Given the description of an element on the screen output the (x, y) to click on. 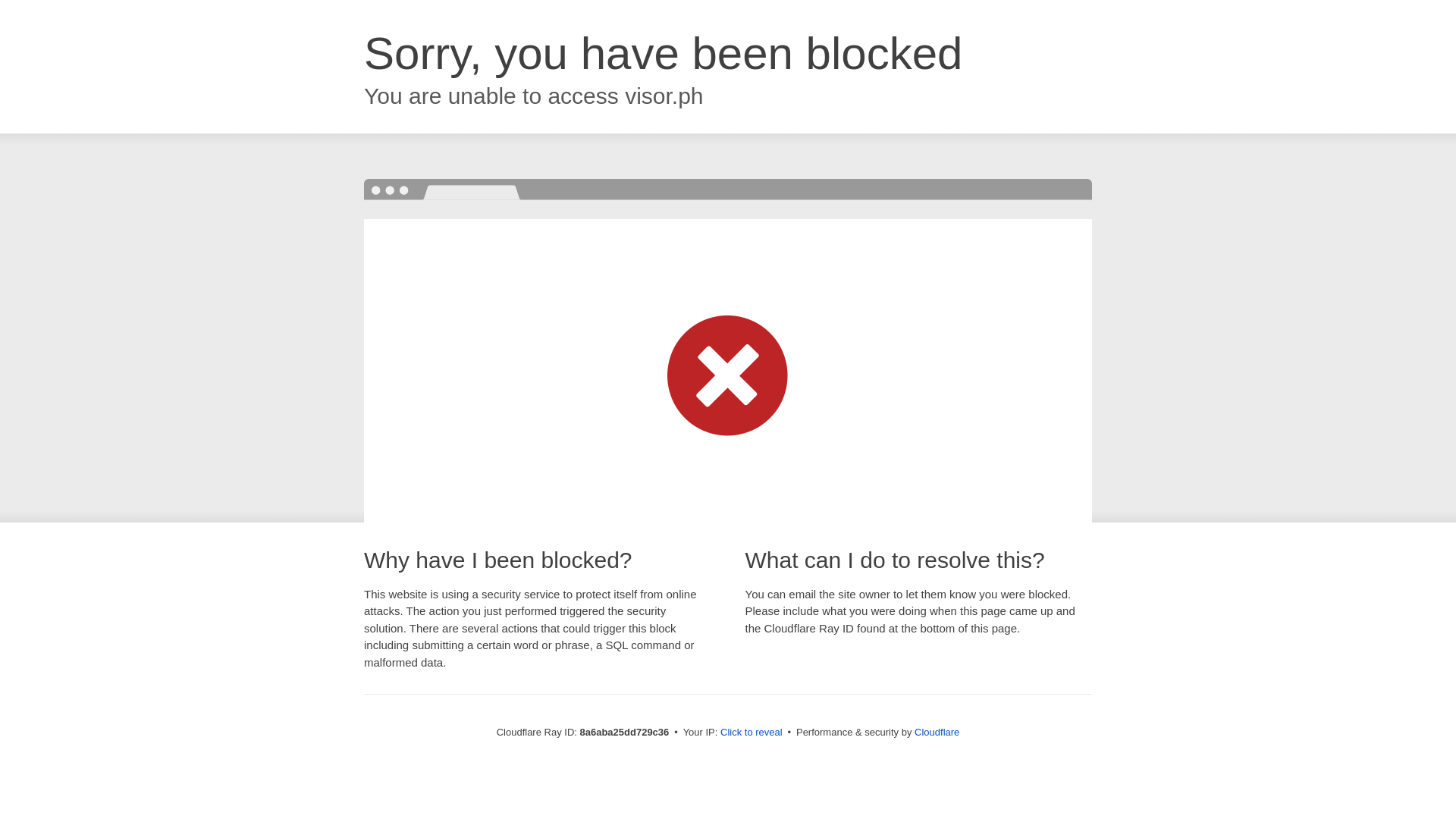
Click to reveal (751, 732)
Cloudflare (936, 731)
